Given the description of an element on the screen output the (x, y) to click on. 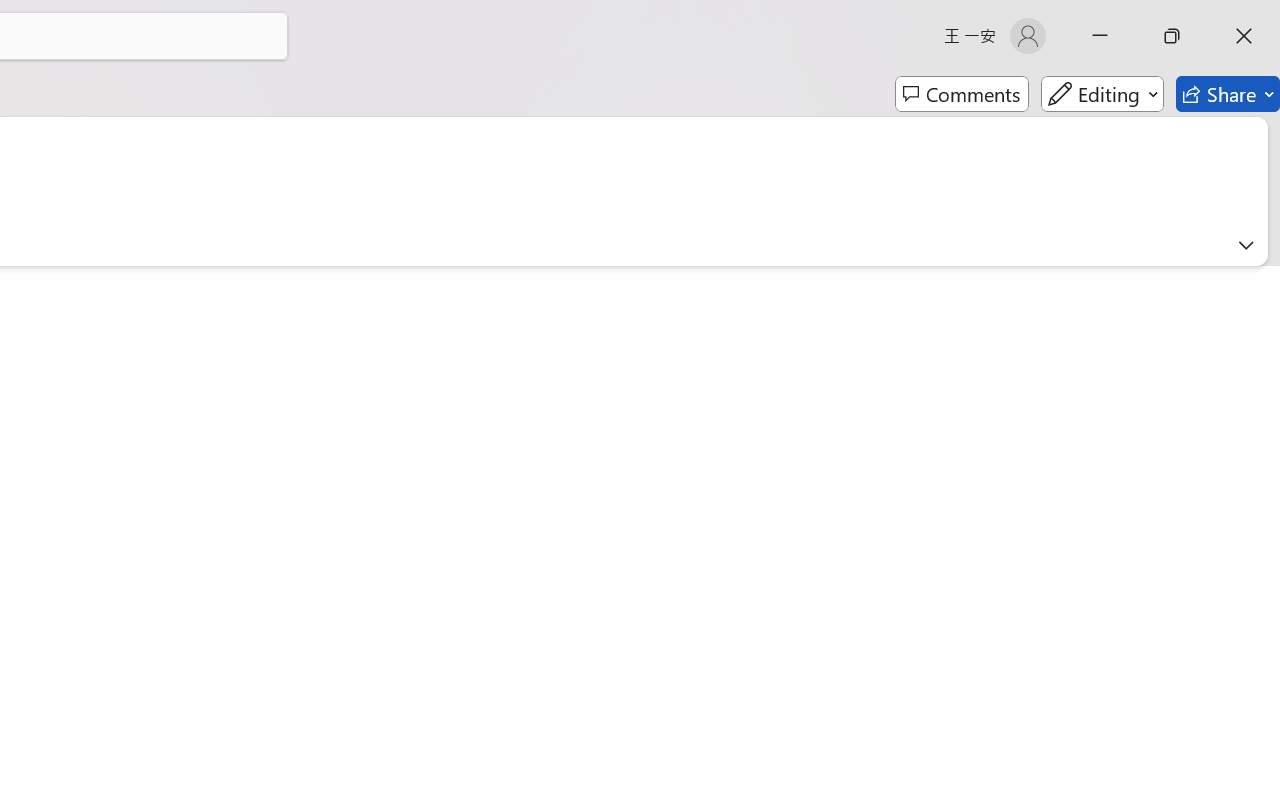
Close (1244, 36)
Share (1228, 94)
Restore Down (1172, 36)
Editing (1101, 94)
Ribbon Display Options (1246, 245)
Minimize (1099, 36)
Comments (961, 94)
